Given the description of an element on the screen output the (x, y) to click on. 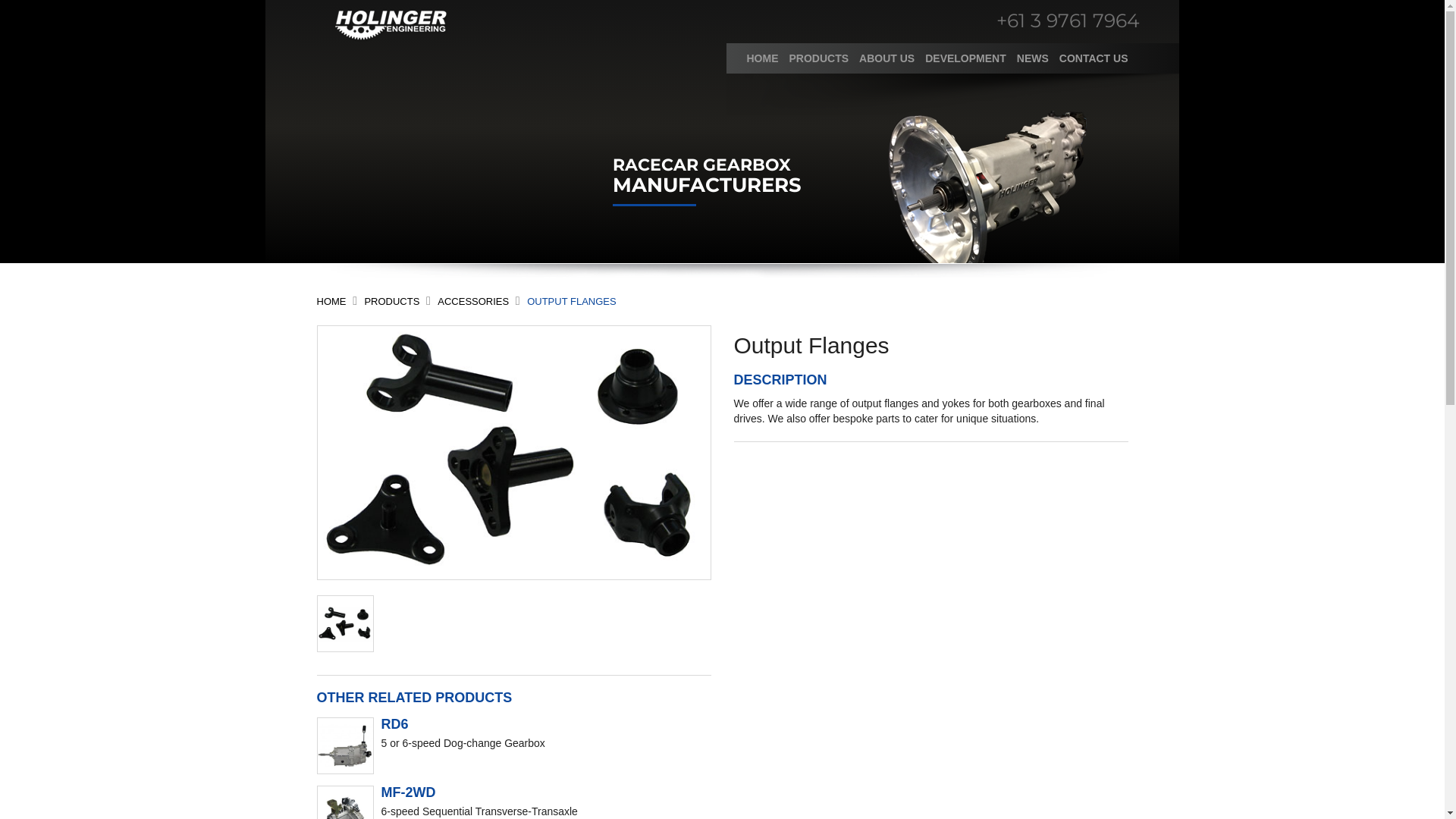
DEVELOPMENT Element type: text (965, 58)
PRODUCTS Element type: text (819, 58)
PRODUCTS Element type: text (391, 301)
CONTACT US Element type: text (1093, 58)
MF-2WD Element type: text (407, 792)
HOME Element type: text (762, 58)
RD6 Element type: text (393, 723)
ACCESSORIES Element type: text (472, 301)
ABOUT US Element type: text (886, 58)
NEWS Element type: text (1032, 58)
HOME Element type: text (331, 301)
